Given the description of an element on the screen output the (x, y) to click on. 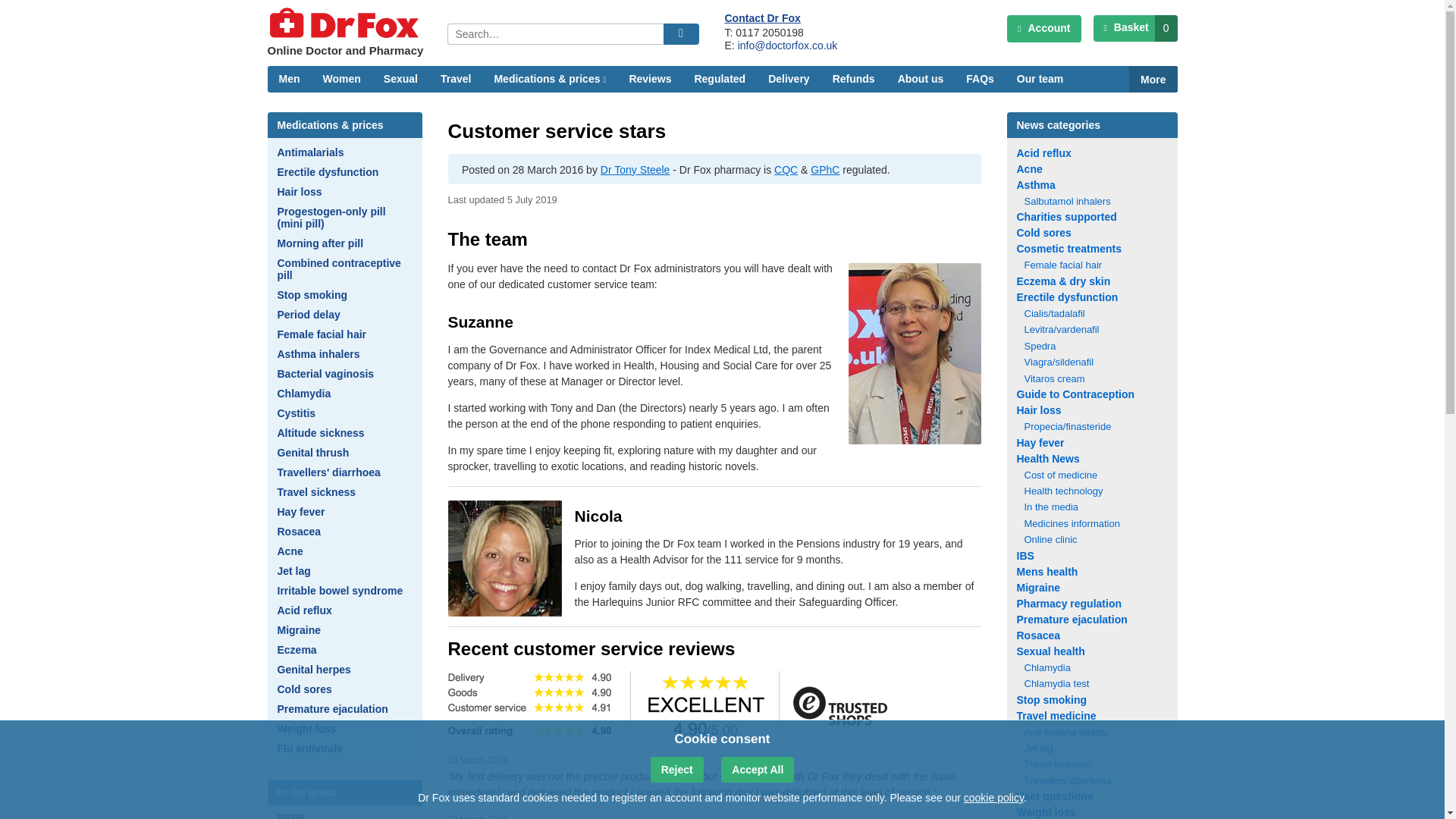
Doctor (684, 169)
Registered with the General Pharmaceutical Council (825, 169)
0117 2050198 (769, 32)
More (1152, 79)
Men (288, 79)
Women (341, 79)
Sexual (400, 79)
Search (680, 34)
Rated 'Good' by the Care Quality Commission (785, 169)
Doctor (605, 169)
